Given the description of an element on the screen output the (x, y) to click on. 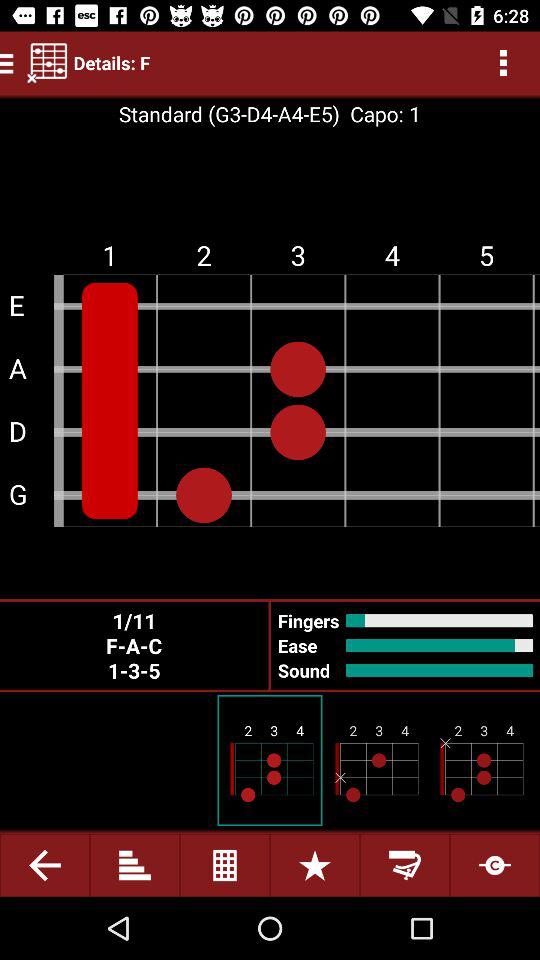
select icon next to the details: f (47, 62)
